Given the description of an element on the screen output the (x, y) to click on. 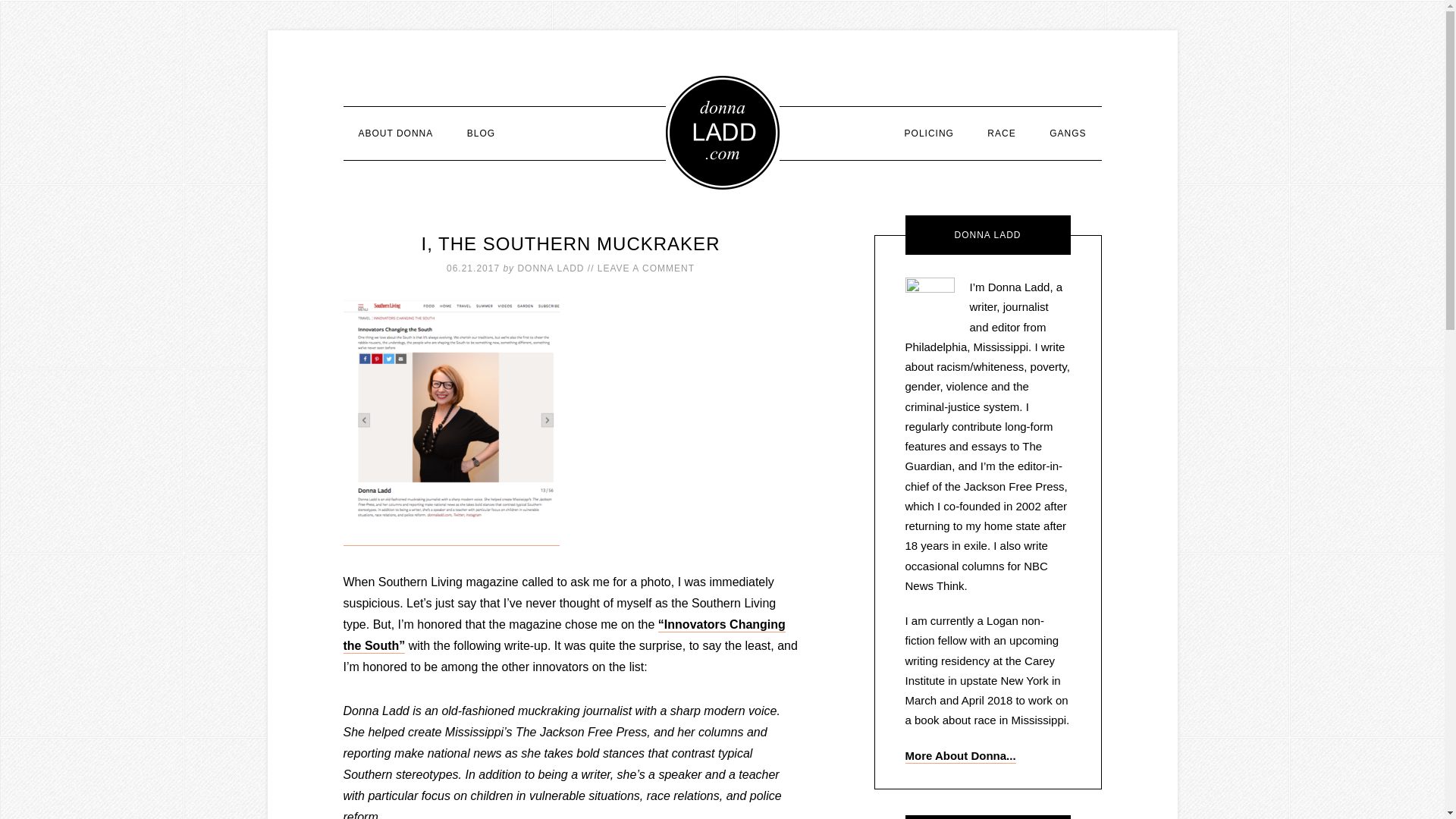
BLOG (481, 133)
POLICING (929, 133)
ABOUT DONNA (395, 133)
DONNA LADD (721, 132)
DONNA LADD (549, 267)
More About Donna... (960, 756)
LEAVE A COMMENT (645, 267)
I, THE SOUTHERN MUCKRAKER (571, 243)
RACE (1001, 133)
GANGS (1066, 133)
